Given the description of an element on the screen output the (x, y) to click on. 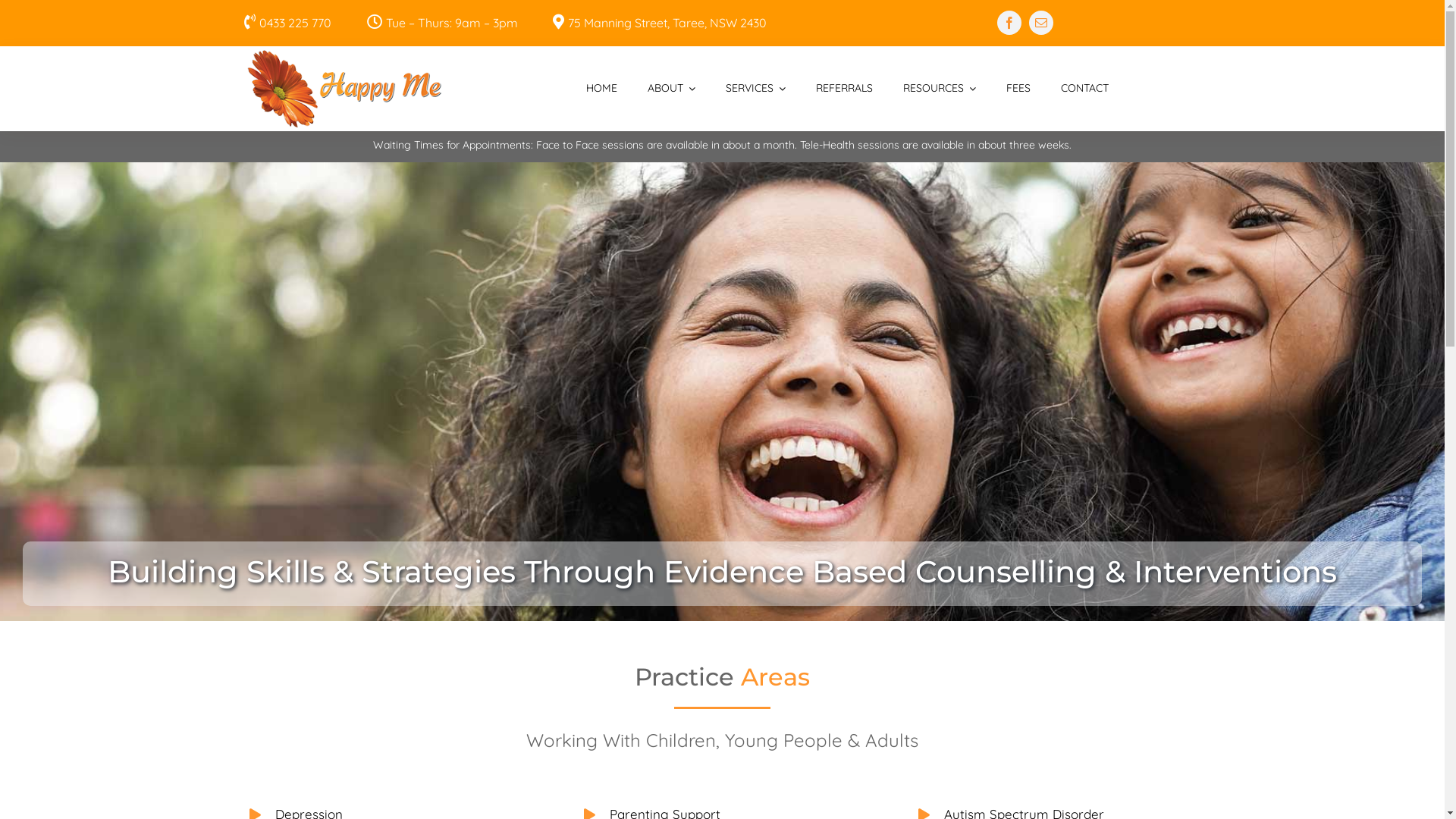
Facebook Element type: hover (1009, 22)
REFERRALS Element type: text (844, 88)
CONTACT Element type: text (1084, 88)
Email Element type: hover (1041, 22)
RESOURCES Element type: text (939, 88)
HOME Element type: text (601, 88)
SERVICES Element type: text (755, 88)
FEES Element type: text (1018, 88)
ABOUT Element type: text (671, 88)
